Given the description of an element on the screen output the (x, y) to click on. 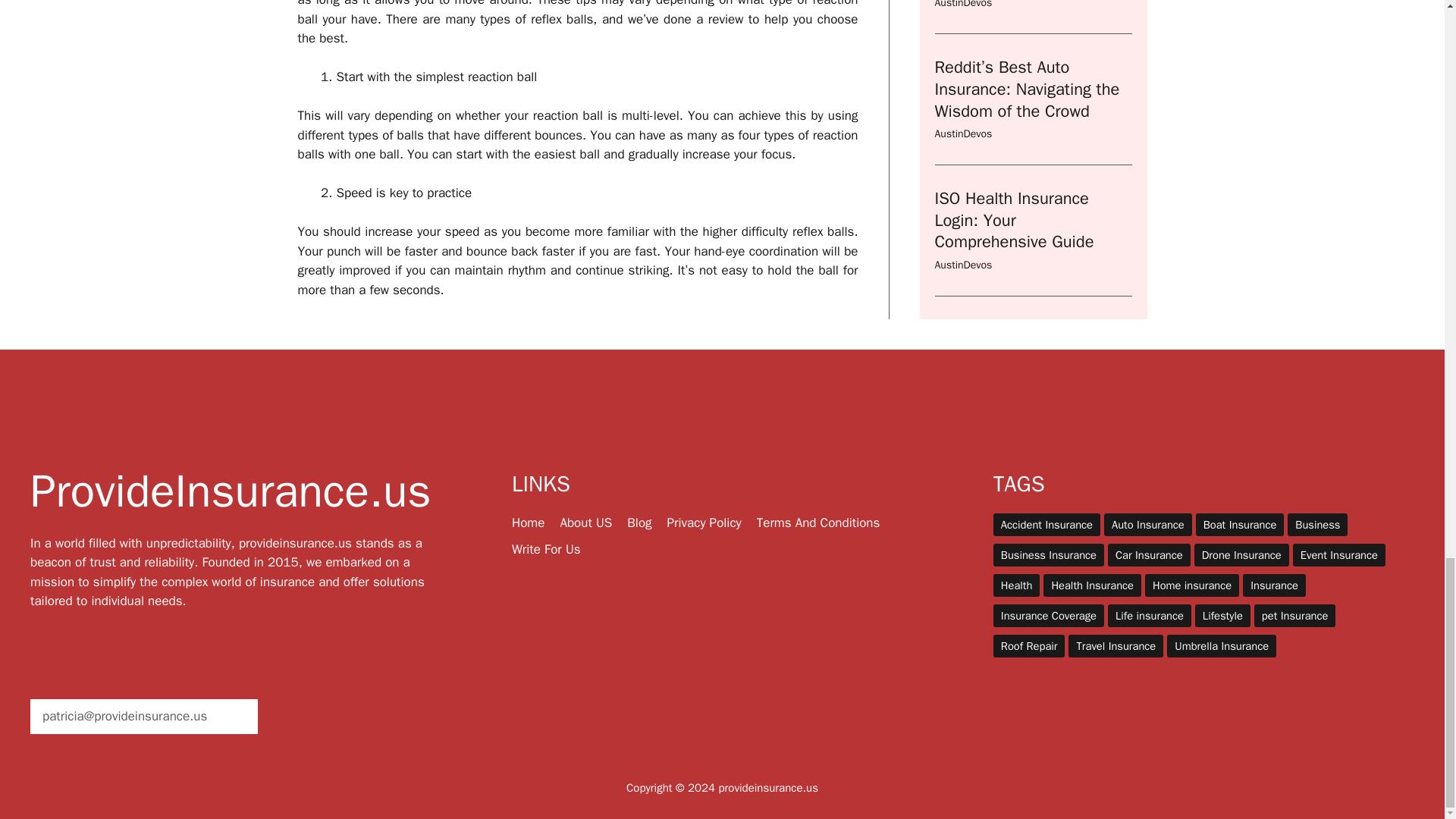
ISO Health Insurance Login: Your Comprehensive Guide (1013, 21)
Auto Insurance (1147, 524)
About US (585, 522)
Terms And Conditions (818, 522)
Accident Insurance (1046, 524)
Home (528, 522)
Blog (638, 522)
Boat Insurance (1239, 524)
Privacy Policy (703, 522)
Write For Us (546, 549)
